Given the description of an element on the screen output the (x, y) to click on. 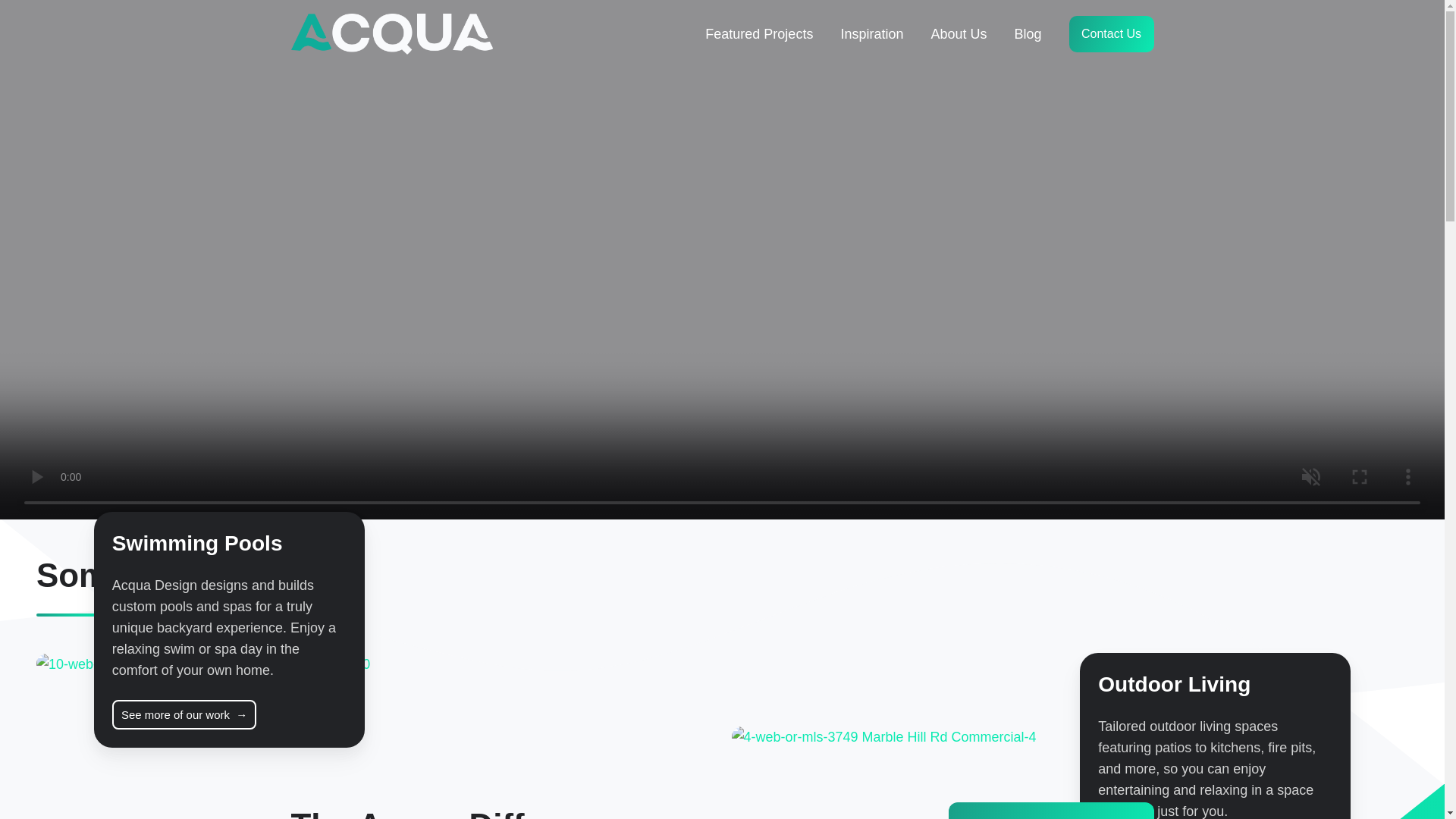
About Us (958, 33)
Contact Us (1111, 33)
Featured Projects (758, 33)
acqua-design-logo-turquoise-white (392, 33)
Inspiration (871, 33)
